Given the description of an element on the screen output the (x, y) to click on. 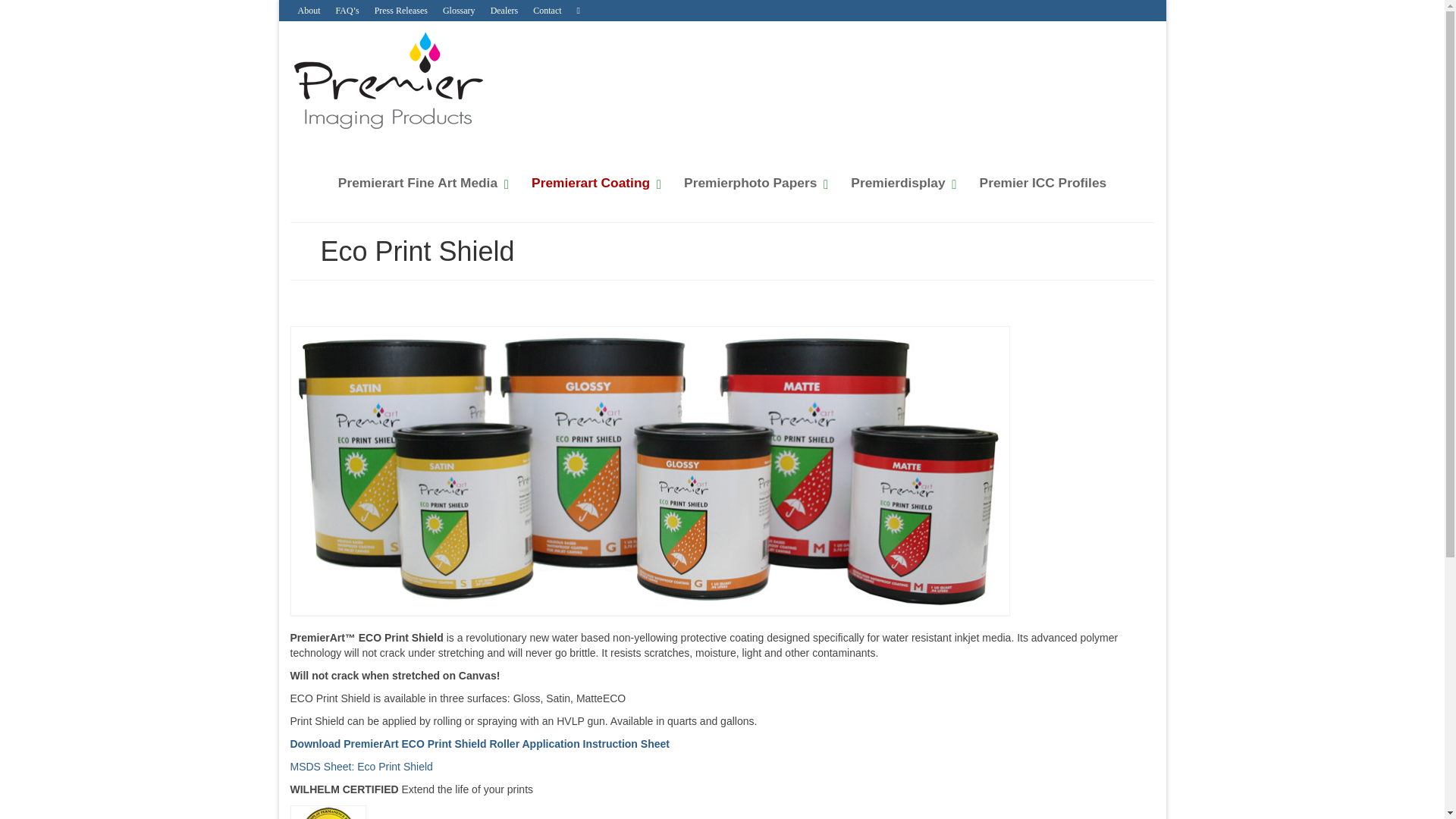
Press Releases (400, 10)
Glossary (459, 10)
About (308, 10)
Contact (547, 10)
Premierart Coating (592, 182)
Premierphoto Papers (751, 182)
Premierart Fine Art Media (419, 182)
Dealers (504, 10)
